Given the description of an element on the screen output the (x, y) to click on. 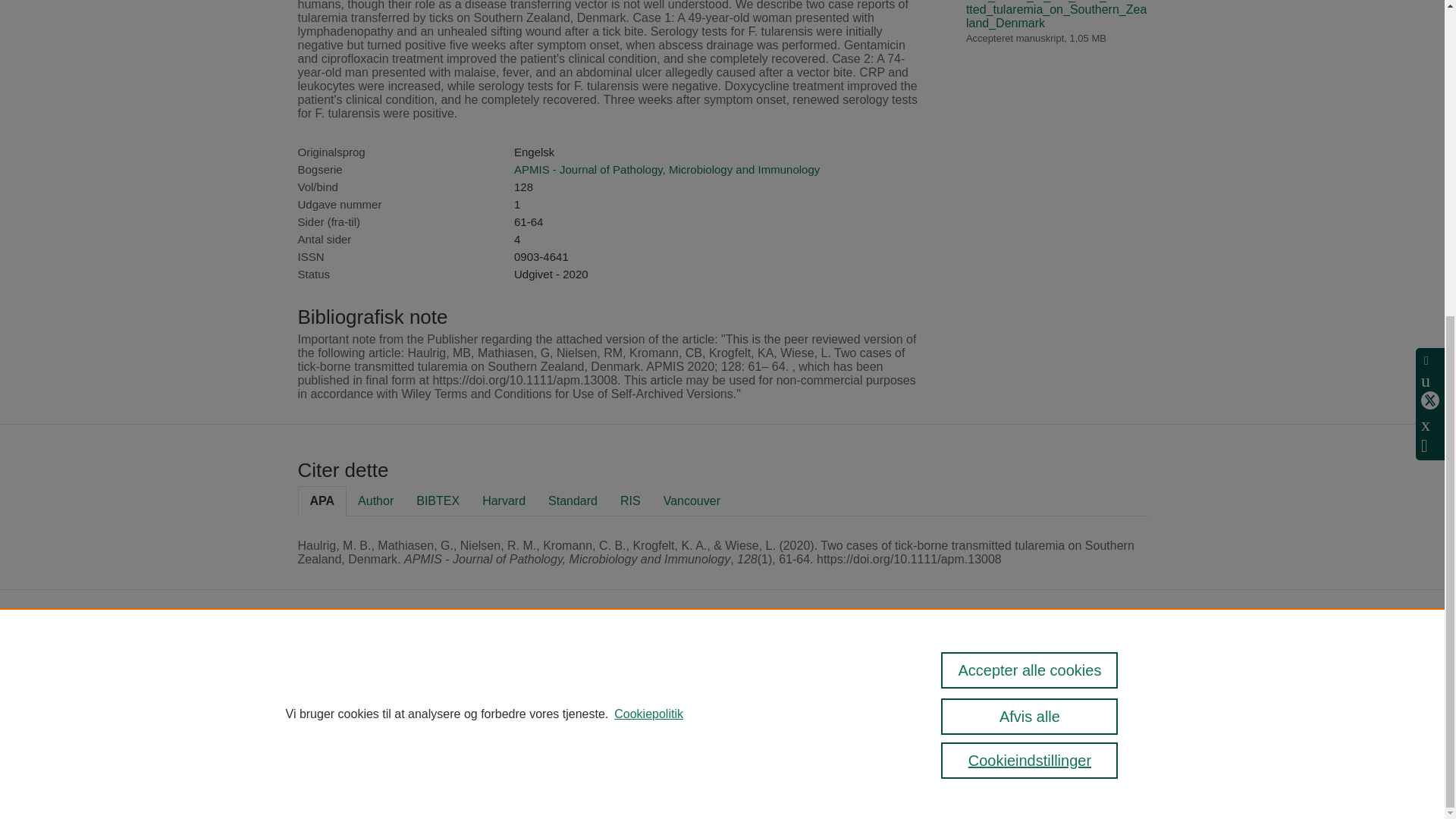
APMIS - Journal of Pathology, Microbiology and Immunology (666, 169)
Pure (509, 665)
Log ind i Pure (486, 781)
brug af cookies (605, 740)
Cookieindstillinger (497, 761)
Elsevier B.V. (692, 685)
Scopus (541, 665)
